Given the description of an element on the screen output the (x, y) to click on. 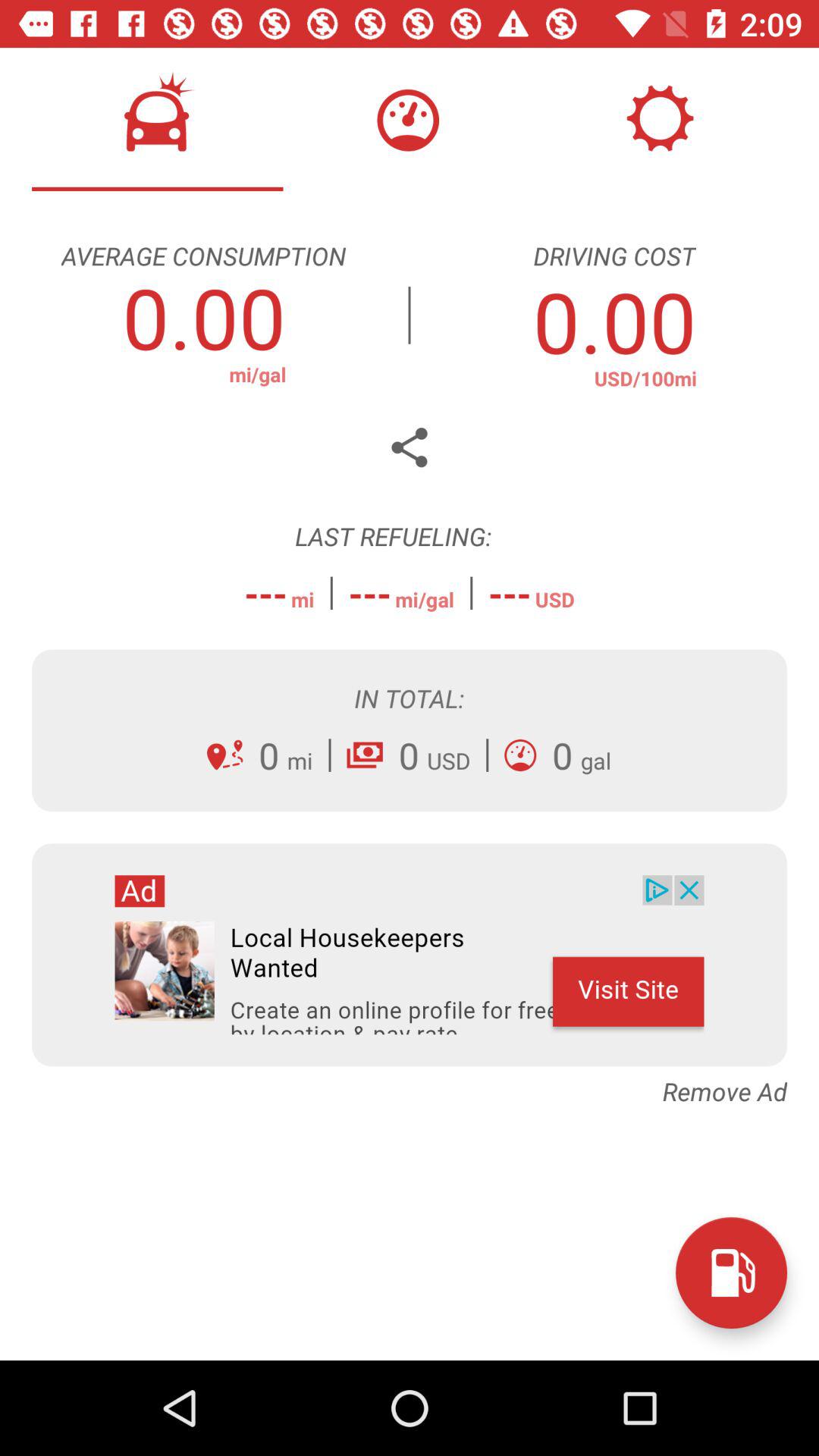
share (409, 447)
